Given the description of an element on the screen output the (x, y) to click on. 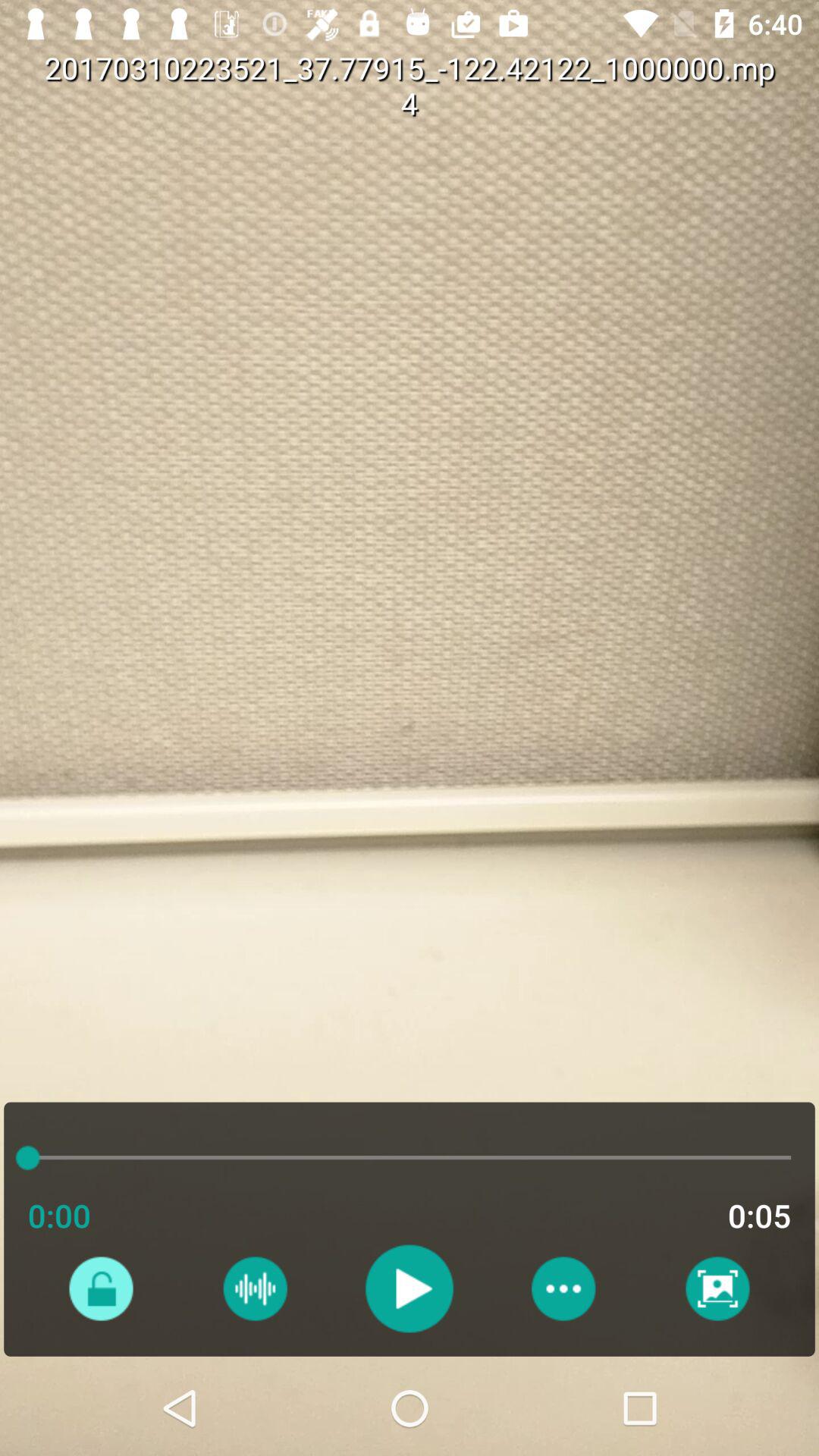
switch to play (409, 1288)
